Given the description of an element on the screen output the (x, y) to click on. 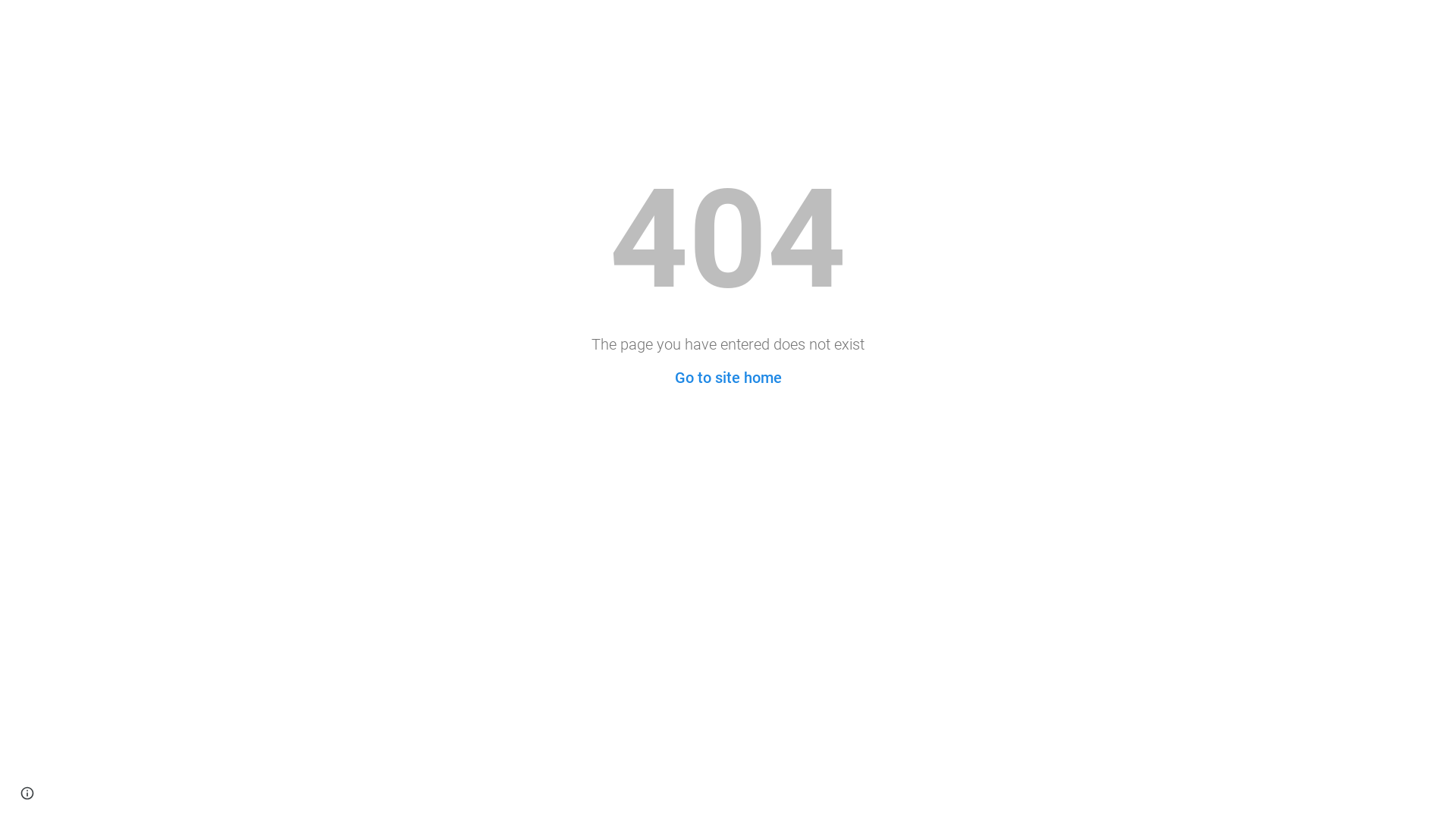
Go to site home Element type: text (727, 377)
